Given the description of an element on the screen output the (x, y) to click on. 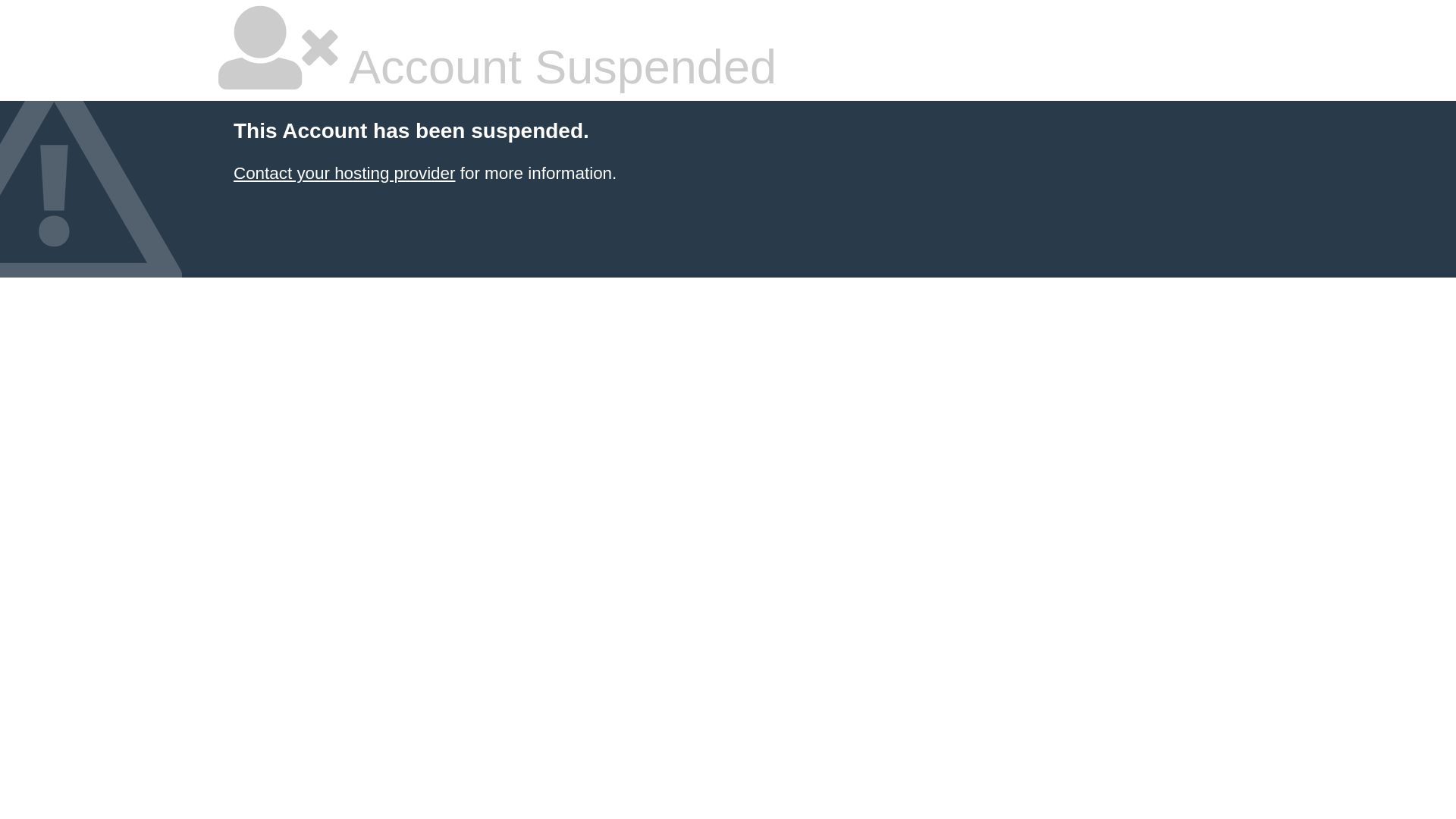
Contact your hosting provider Element type: text (344, 172)
